Given the description of an element on the screen output the (x, y) to click on. 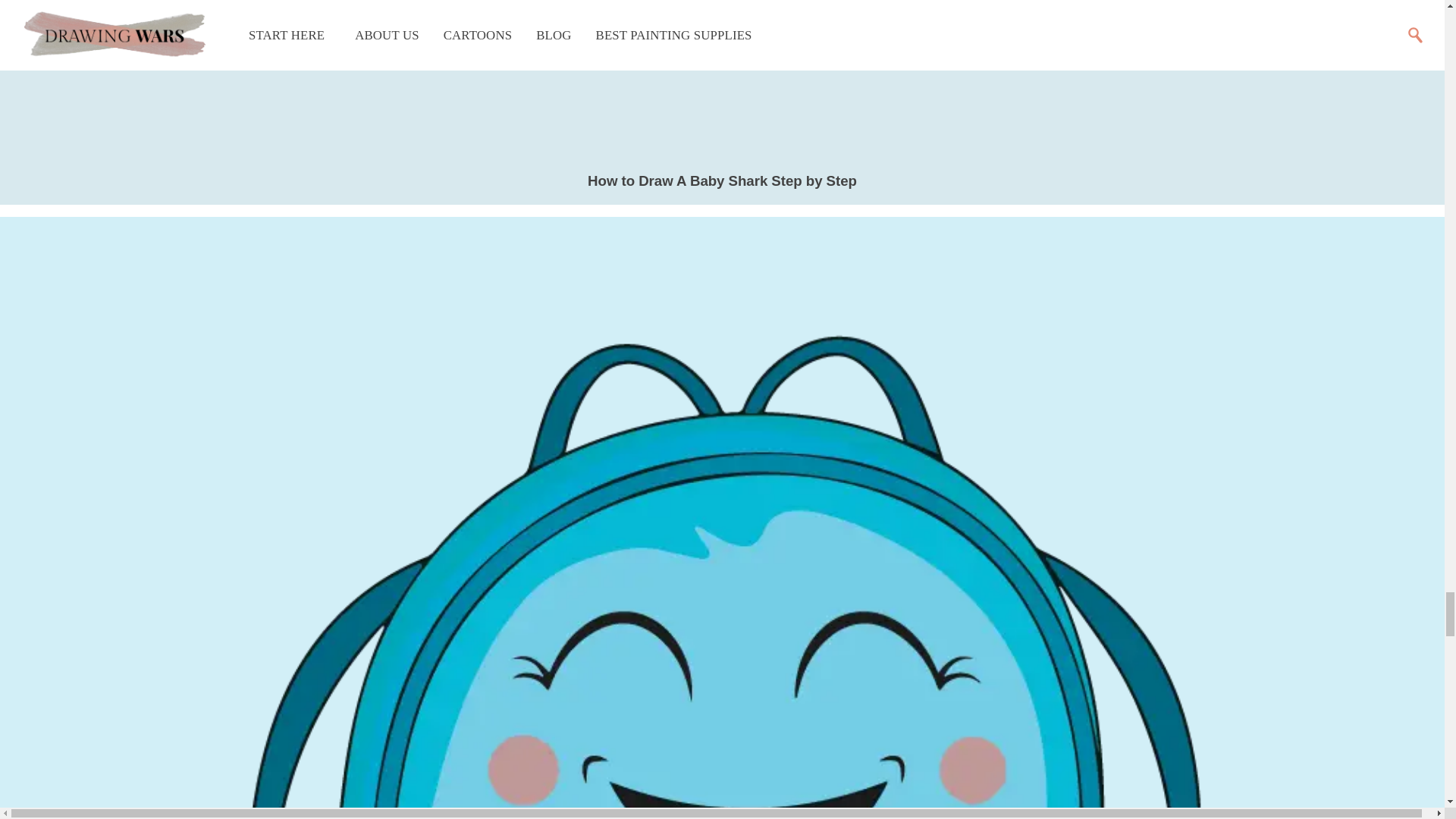
How to Draw A Baby Shark Step by Step (722, 180)
